Given the description of an element on the screen output the (x, y) to click on. 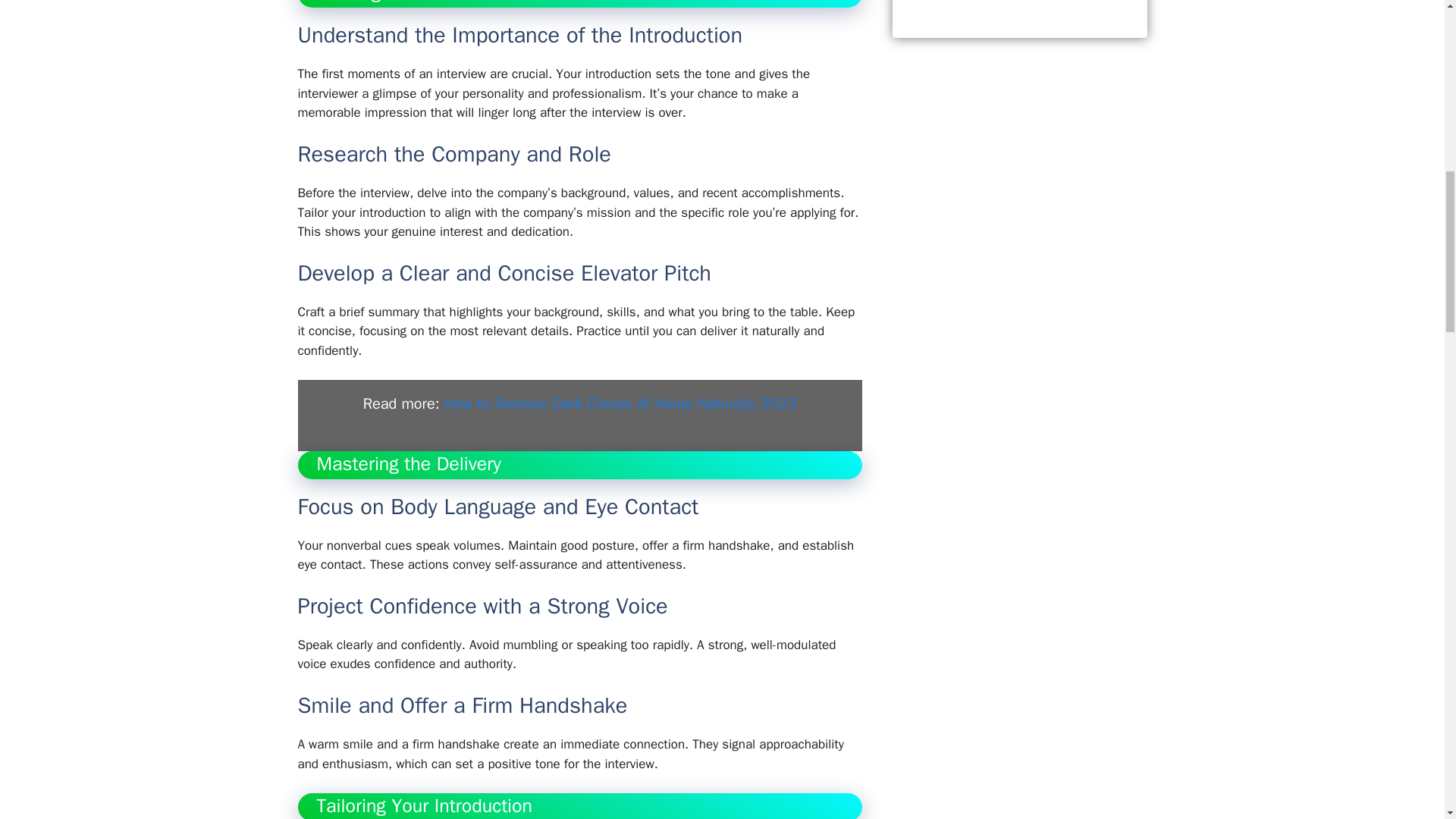
How to Remove Dark Circles At Home Naturally 2023 (620, 403)
Scroll back to top (1406, 720)
